Given the description of an element on the screen output the (x, y) to click on. 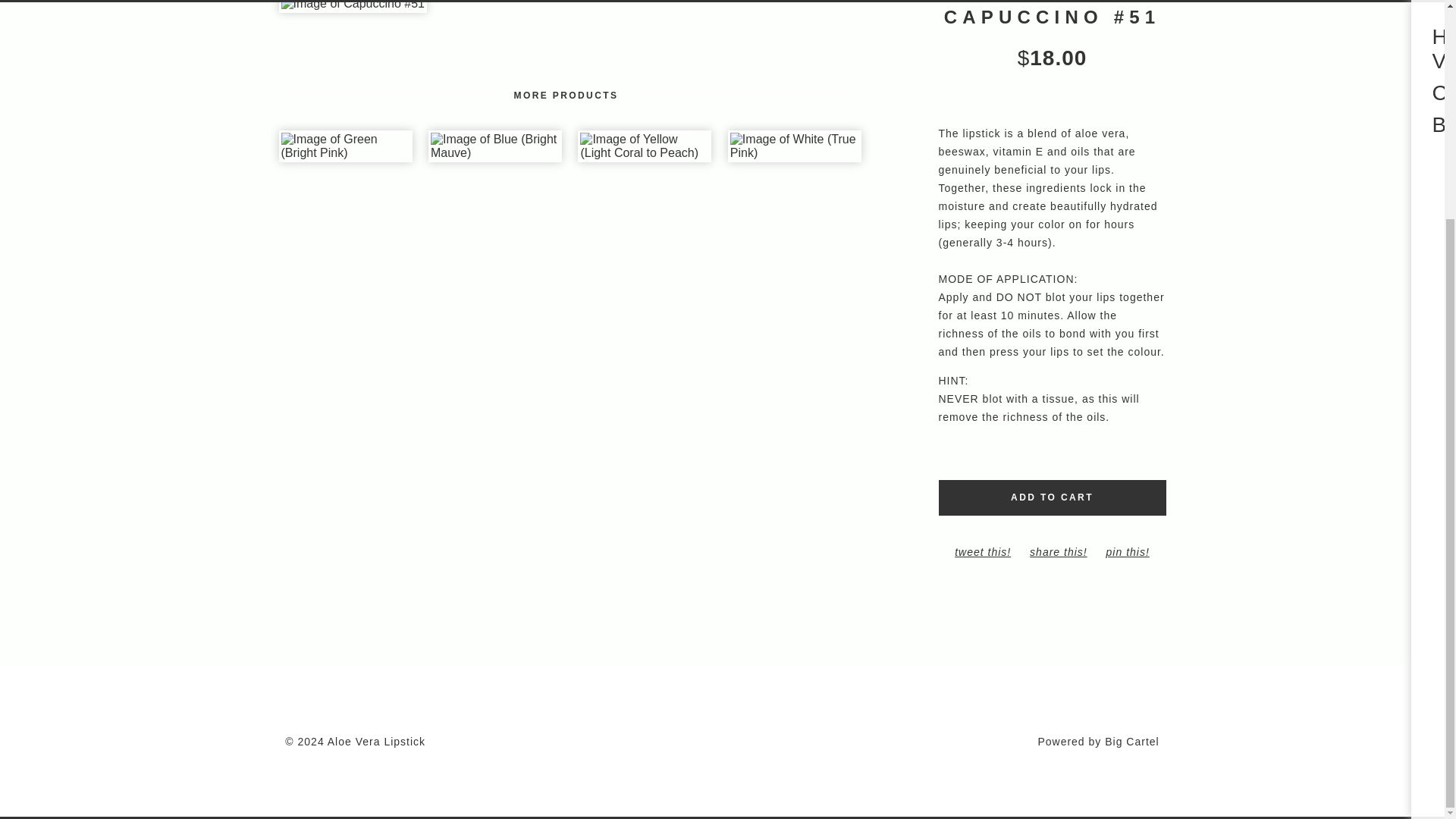
Powered by Big Cartel (1097, 741)
ADD TO CART (1052, 497)
tweet this! (982, 551)
Add to Cart (1052, 497)
pin this! (1128, 551)
share this! (1058, 551)
